Given the description of an element on the screen output the (x, y) to click on. 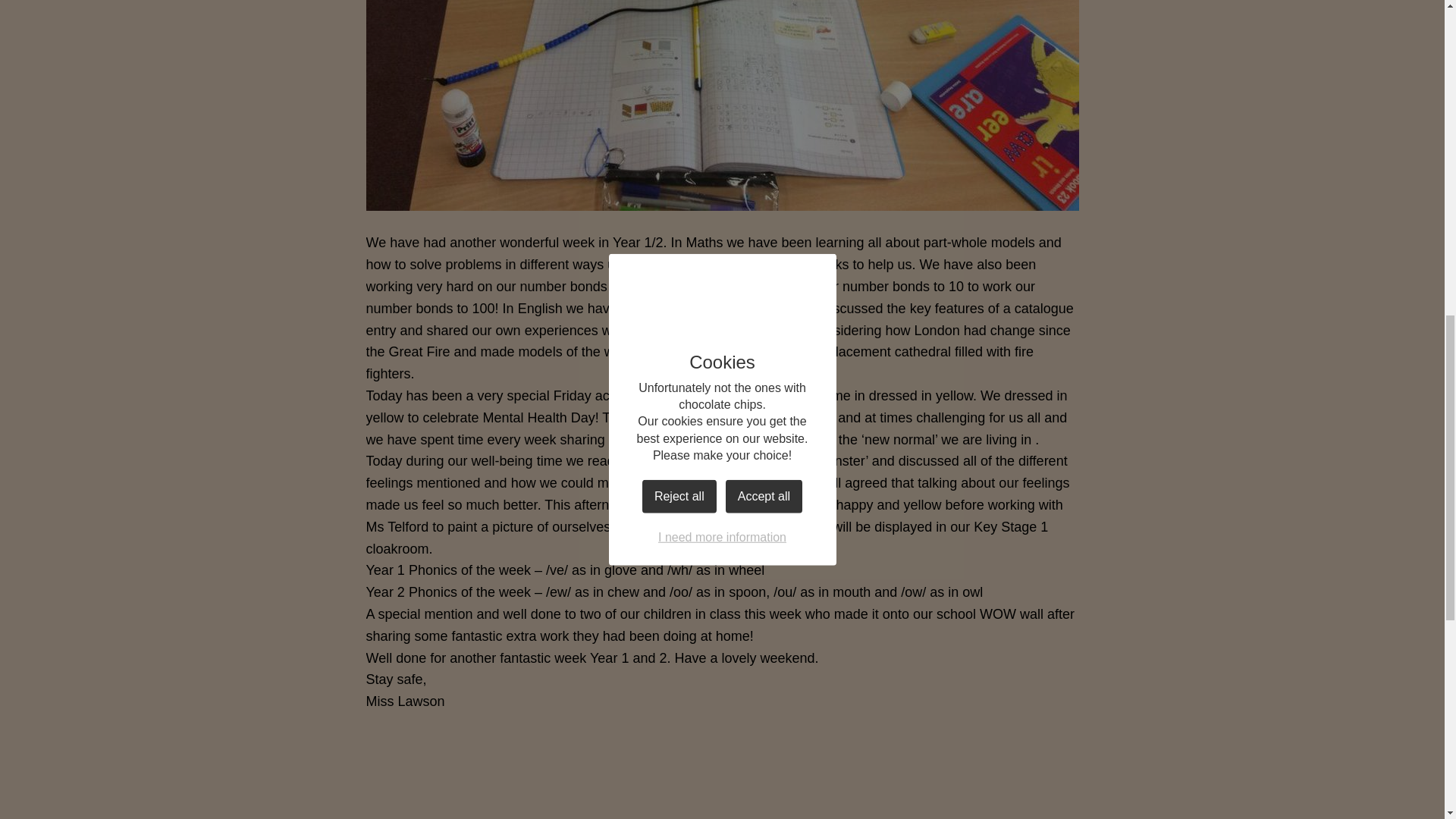
View large version of image (448, 773)
View large version of image (812, 773)
View large version of image (630, 773)
View large version of image (994, 773)
